Given the description of an element on the screen output the (x, y) to click on. 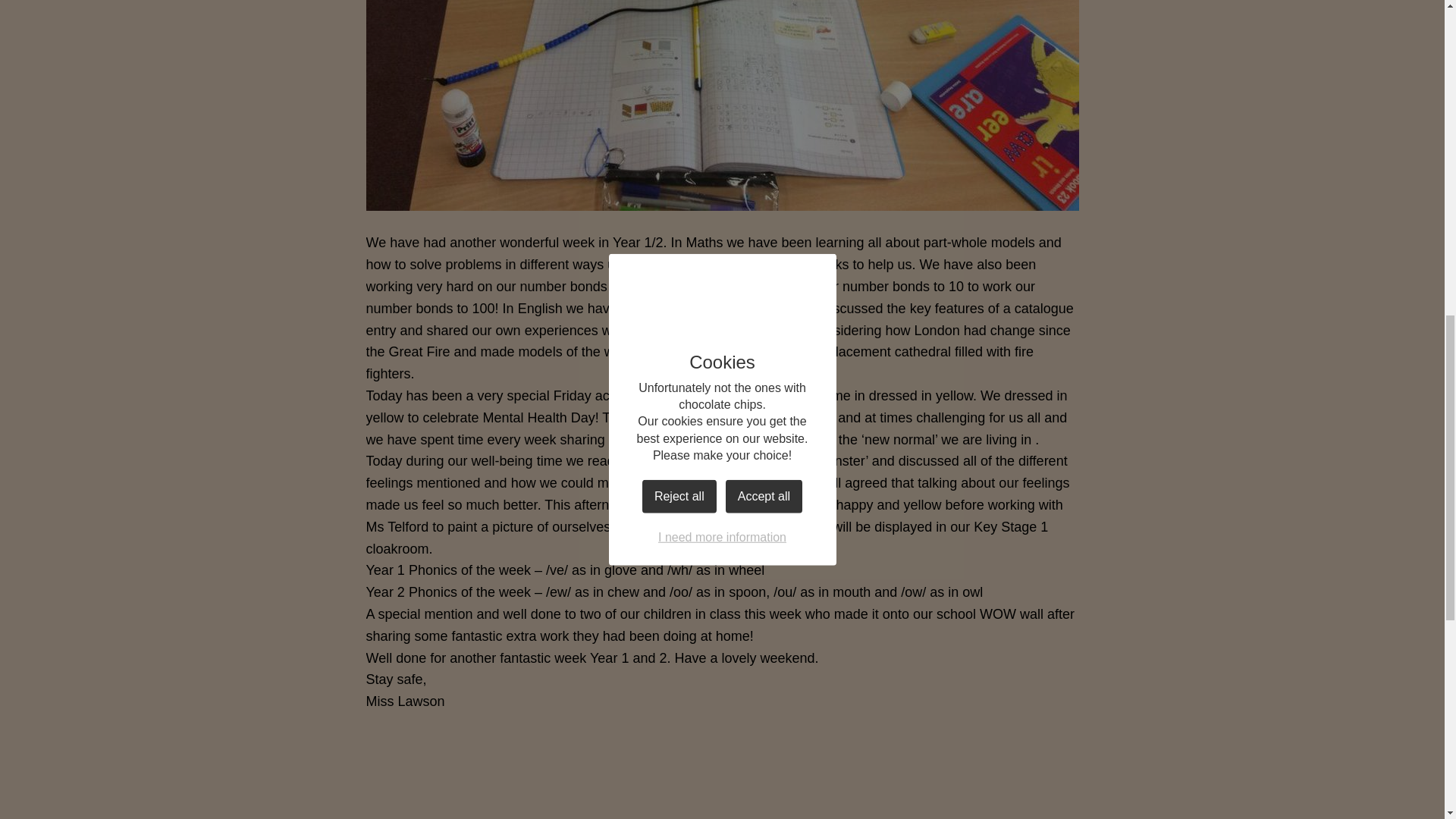
View large version of image (448, 773)
View large version of image (812, 773)
View large version of image (630, 773)
View large version of image (994, 773)
